Given the description of an element on the screen output the (x, y) to click on. 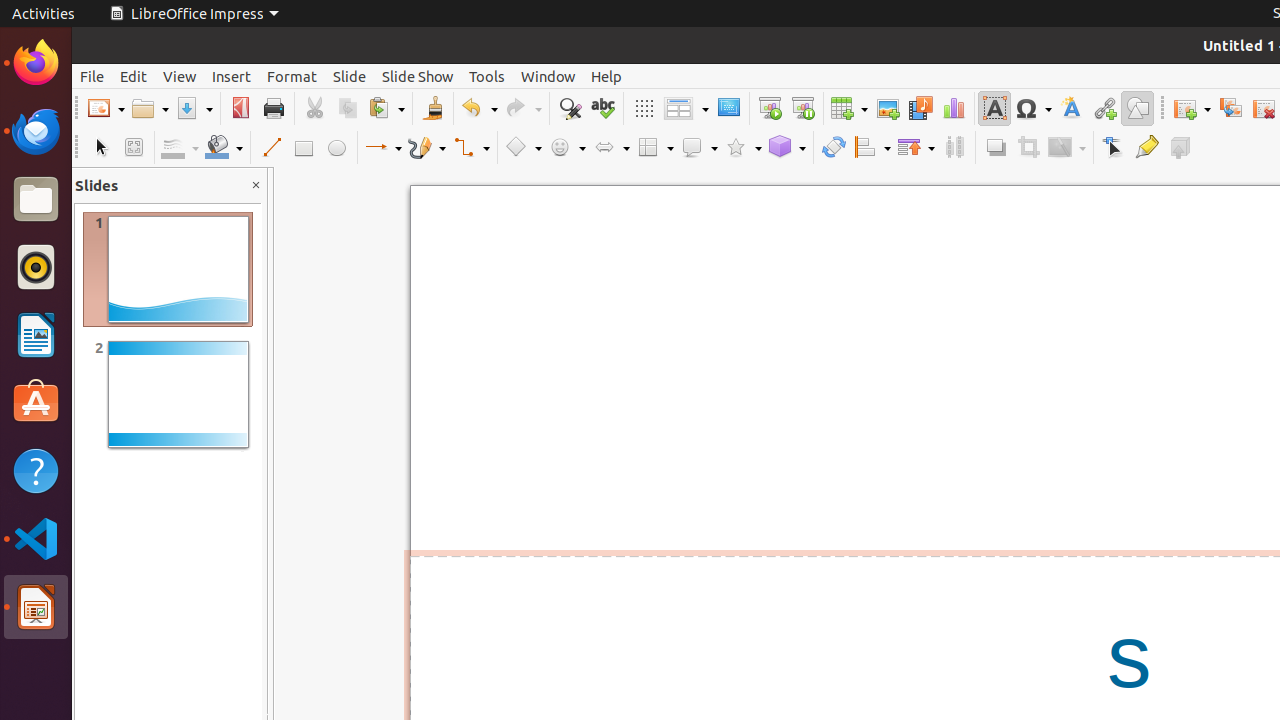
Flowchart Shapes Element type: push-button (655, 147)
